Given the description of an element on the screen output the (x, y) to click on. 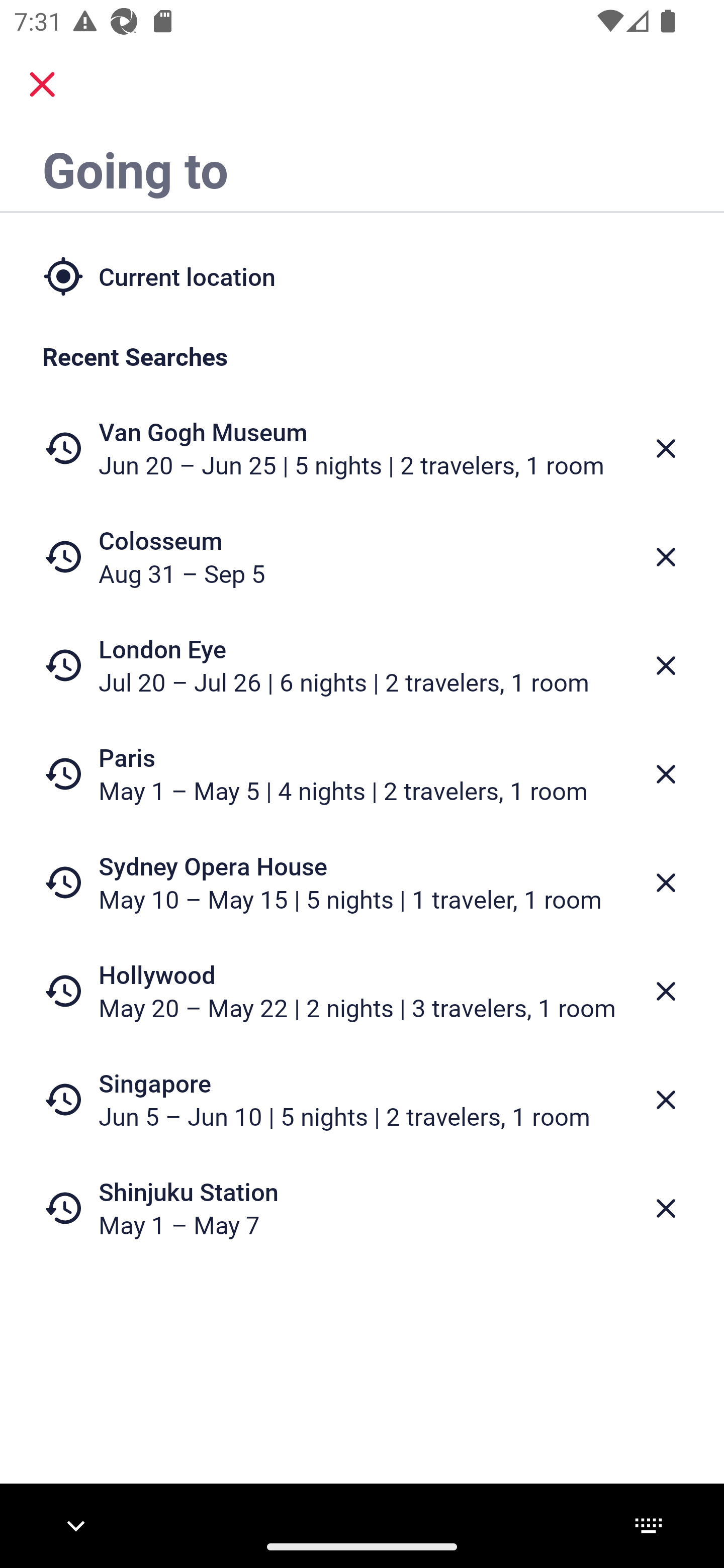
close. (42, 84)
Current location (362, 275)
Delete from recent searches (666, 448)
Colosseum Aug 31 – Sep 5 (362, 557)
Delete from recent searches (666, 556)
Delete from recent searches (666, 666)
Delete from recent searches (666, 774)
Delete from recent searches (666, 882)
Delete from recent searches (666, 990)
Delete from recent searches (666, 1100)
Shinjuku Station May 1 – May 7 (362, 1208)
Delete from recent searches (666, 1208)
